Given the description of an element on the screen output the (x, y) to click on. 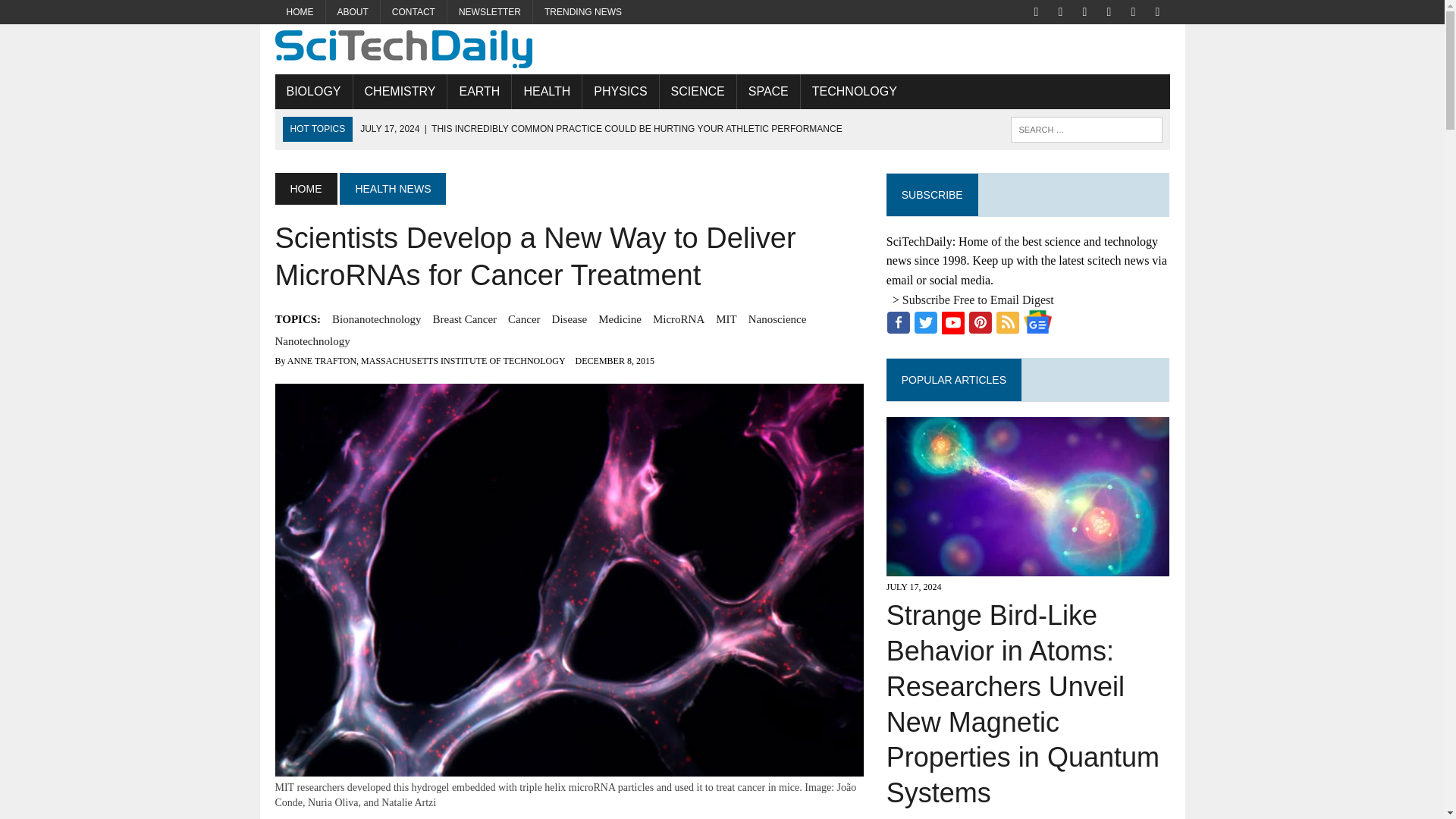
TRENDING NEWS (582, 12)
NEWSLETTER (489, 12)
CHEMISTRY (399, 91)
HEALTH (546, 91)
Search (75, 14)
EARTH (478, 91)
SPACE (767, 91)
SciTechDaily (722, 48)
Cancer (524, 319)
SCIENCE (697, 91)
Bionanotechnology (375, 319)
CONTACT (413, 12)
SciTechDaily Newsletter (489, 12)
HOME (299, 12)
